Given the description of an element on the screen output the (x, y) to click on. 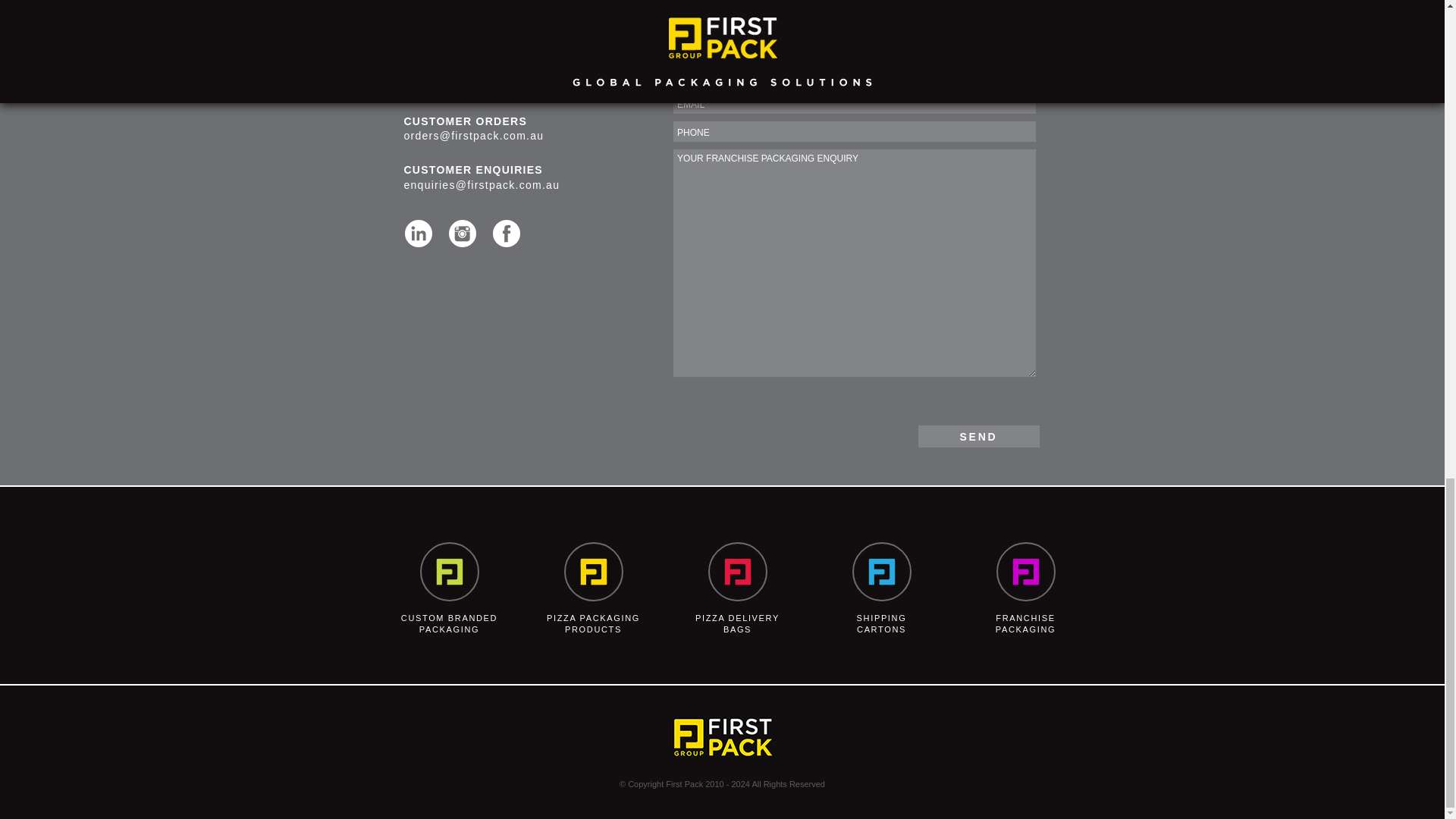
SEND (978, 436)
SEND (978, 436)
